Given the description of an element on the screen output the (x, y) to click on. 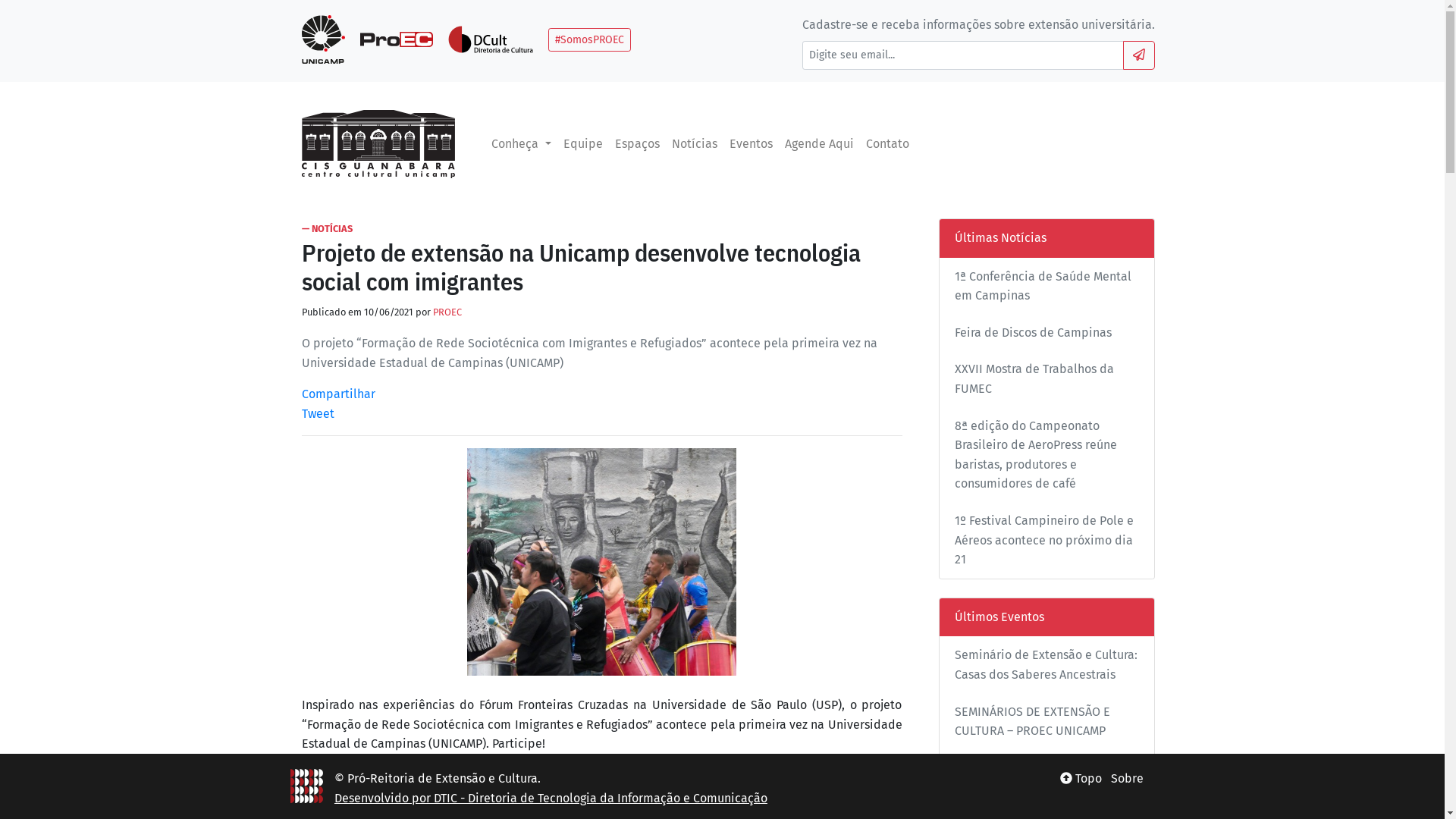
Topo Element type: text (1080, 778)
Feira de Discos de Campinas Element type: text (1031, 332)
XXVII Mostra de Trabalhos da FUMEC Element type: text (1033, 378)
Sobre Element type: text (1126, 778)
Eventos Element type: text (750, 144)
Agende Aqui Element type: text (818, 144)
Tweet Element type: text (317, 413)
#SomosPROEC Element type: text (589, 38)
Compartilhar Element type: text (338, 393)
Contato Element type: text (887, 144)
Equipe Element type: text (582, 144)
PROEC Element type: text (446, 311)
